Given the description of an element on the screen output the (x, y) to click on. 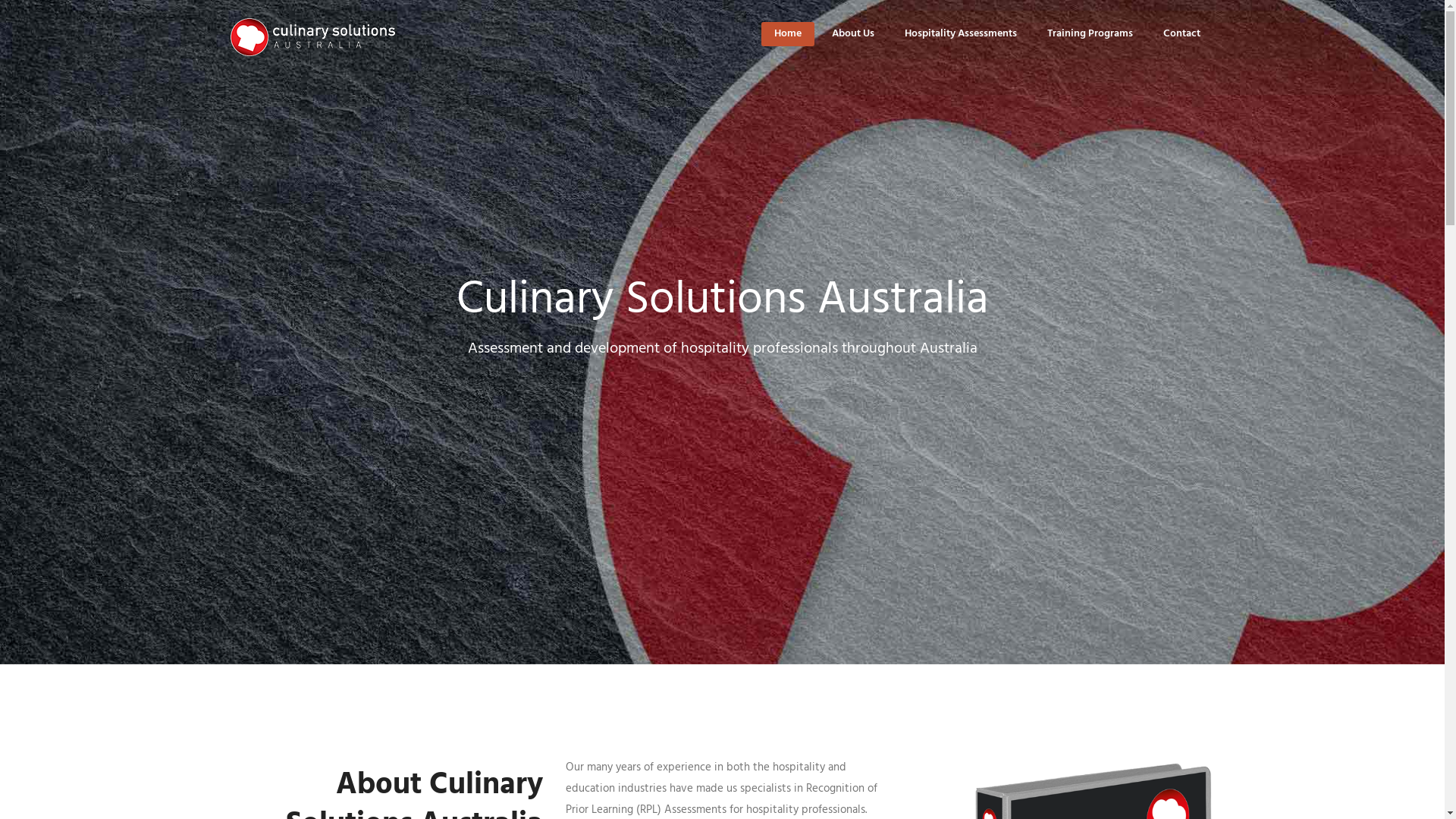
Home Element type: text (786, 33)
Training Programs Element type: text (1089, 33)
About Us Element type: text (851, 33)
Hospitality Assessments Element type: text (959, 33)
Contact Element type: text (1181, 33)
